Given the description of an element on the screen output the (x, y) to click on. 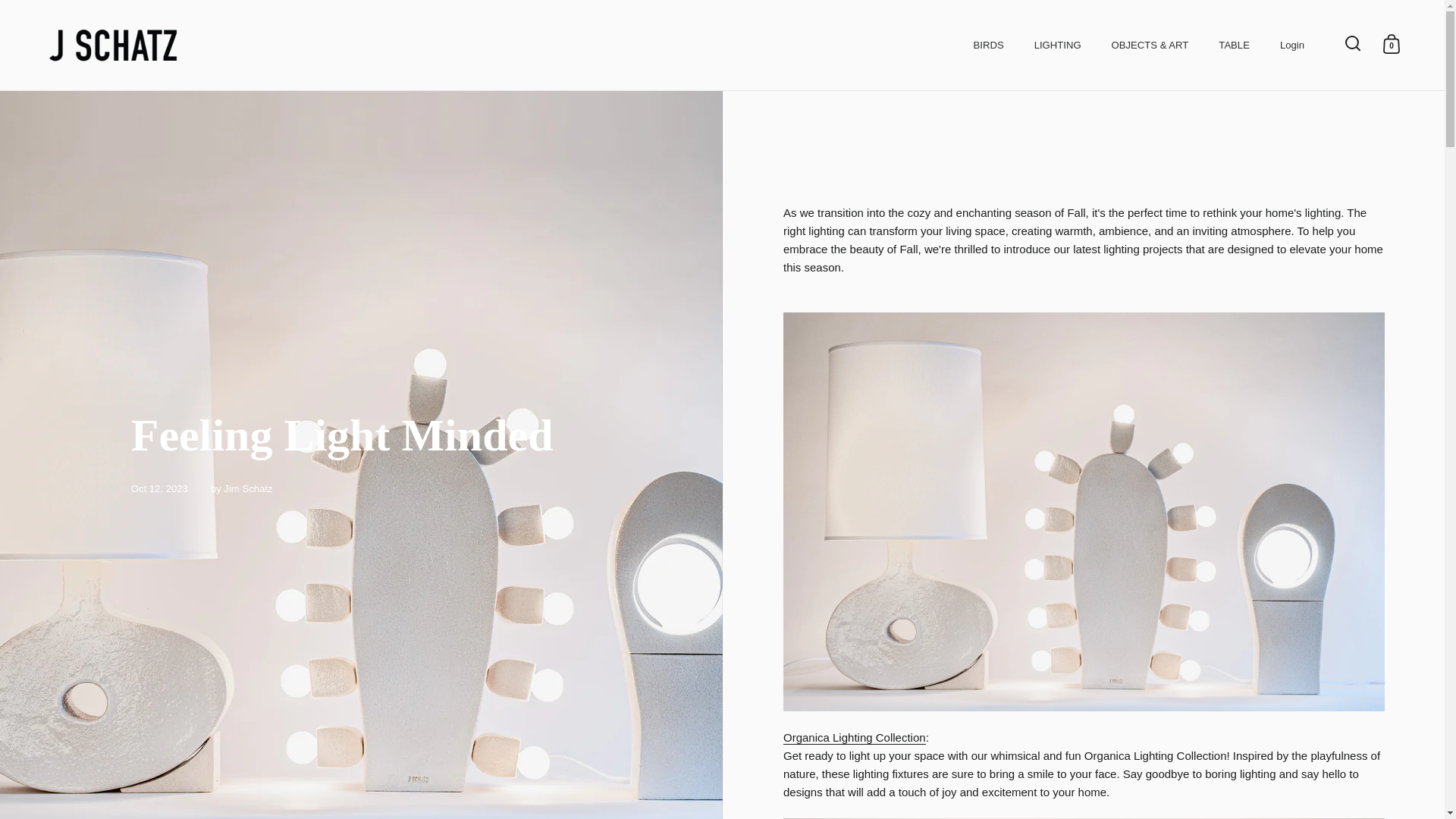
Organica Lighting Collection (854, 737)
Organica Lighting Collection (854, 737)
LIGHTING (1057, 44)
BIRDS (988, 44)
Open search (1353, 43)
Login (1292, 44)
Open cart (1390, 43)
TABLE (1234, 44)
Organica Lighting Collection (1083, 510)
